Given the description of an element on the screen output the (x, y) to click on. 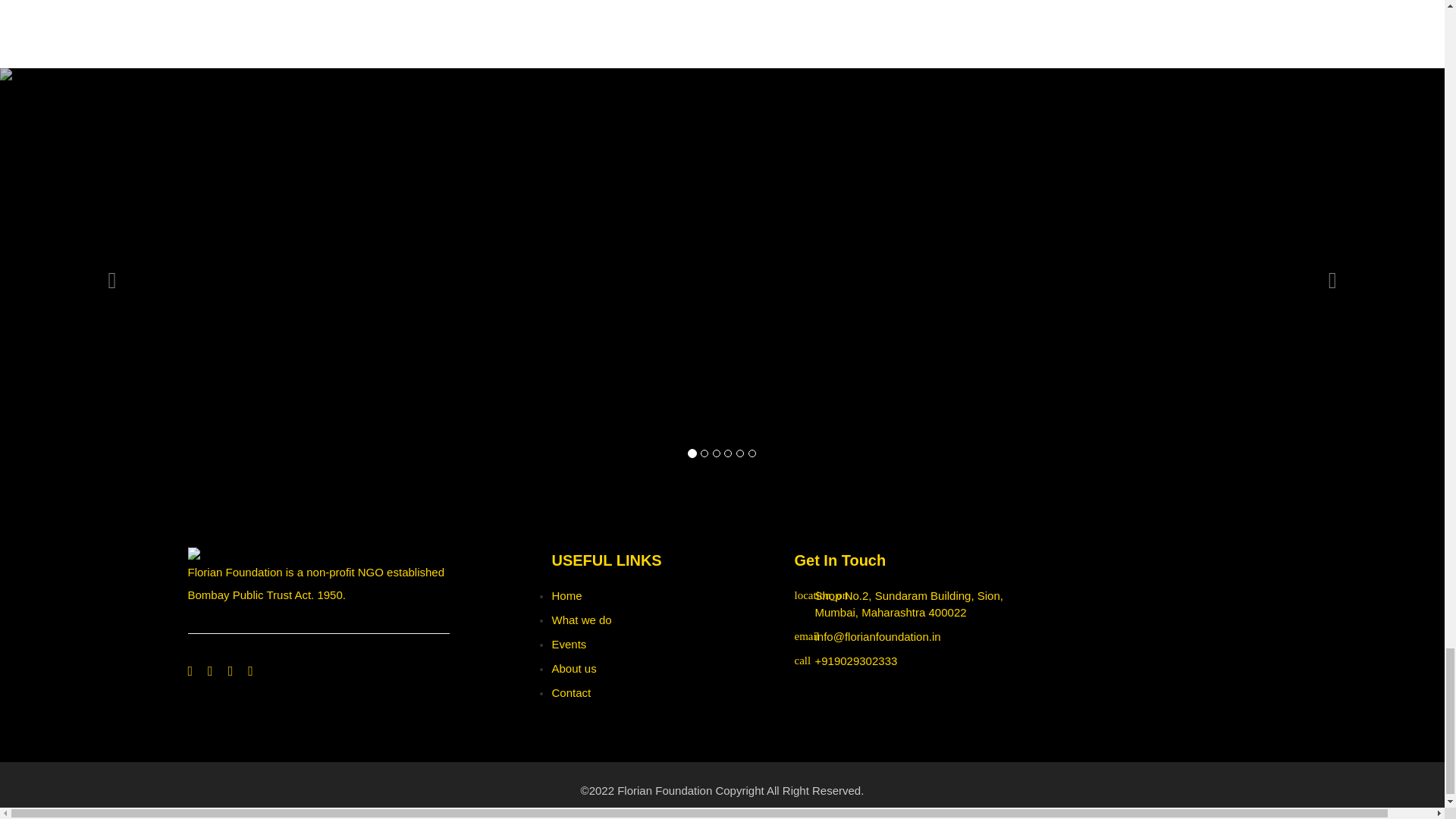
About us (573, 667)
What we do (581, 619)
Home (565, 594)
Contact (571, 692)
Events (568, 644)
